Given the description of an element on the screen output the (x, y) to click on. 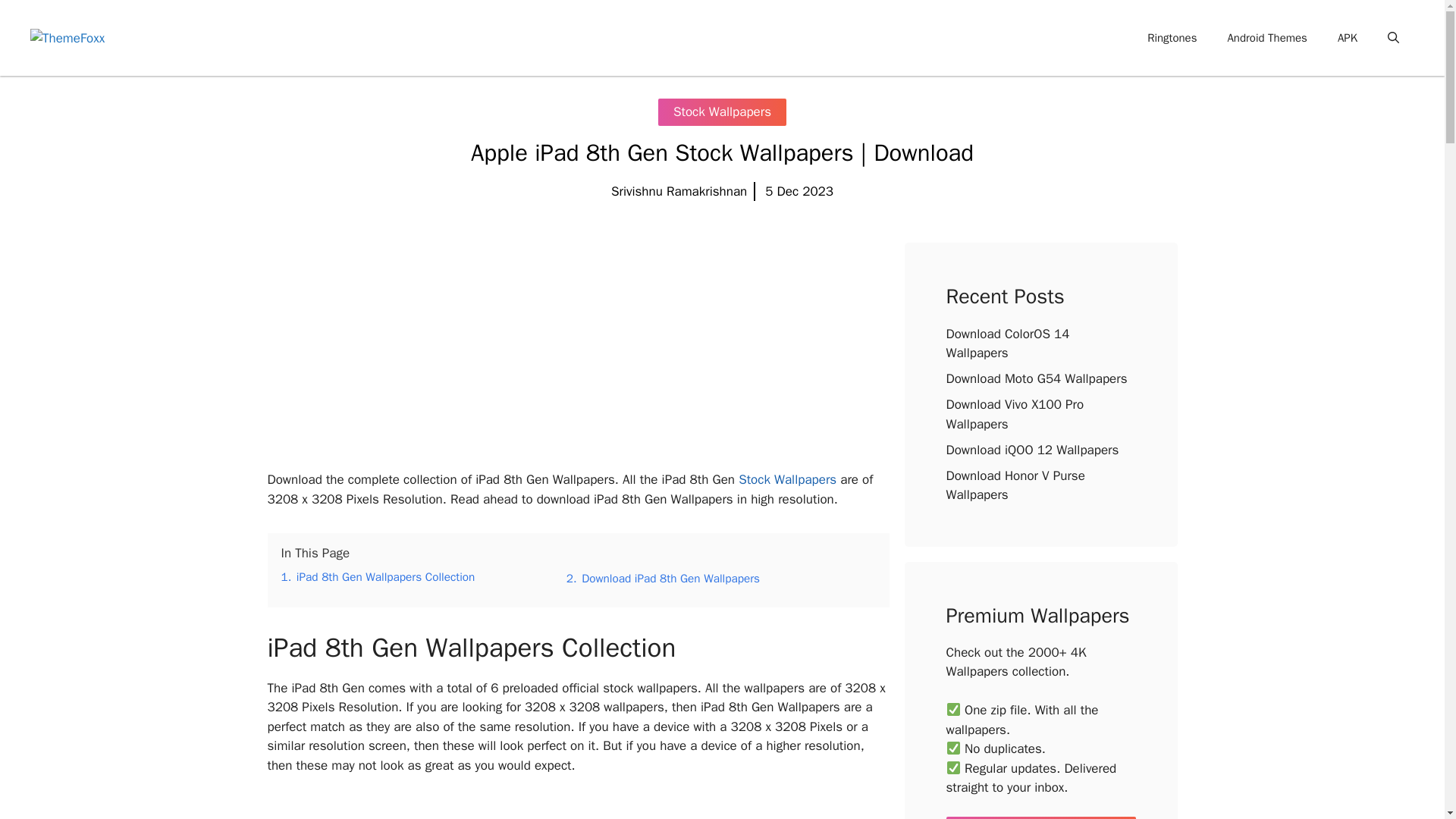
Download Moto G54 Wallpapers (1036, 378)
Stock Wallpapers (1073, 37)
Download Vivo X100 Pro Wallpapers (1015, 414)
Stock Wallpapers (786, 479)
Download ColorOS 14 Wallpapers (1008, 343)
APK (1347, 37)
Stock Wallpapers (722, 112)
1. iPad 8th Gen Wallpapers Collection (377, 576)
2. Download iPad 8th Gen Wallpapers (663, 578)
Stock Wallpapers (786, 479)
Advertisement (577, 348)
Android Themes (1266, 37)
Ringtones (1171, 37)
Download Honor V Purse Wallpapers (1015, 485)
Srivishnu Ramakrishnan (678, 191)
